Given the description of an element on the screen output the (x, y) to click on. 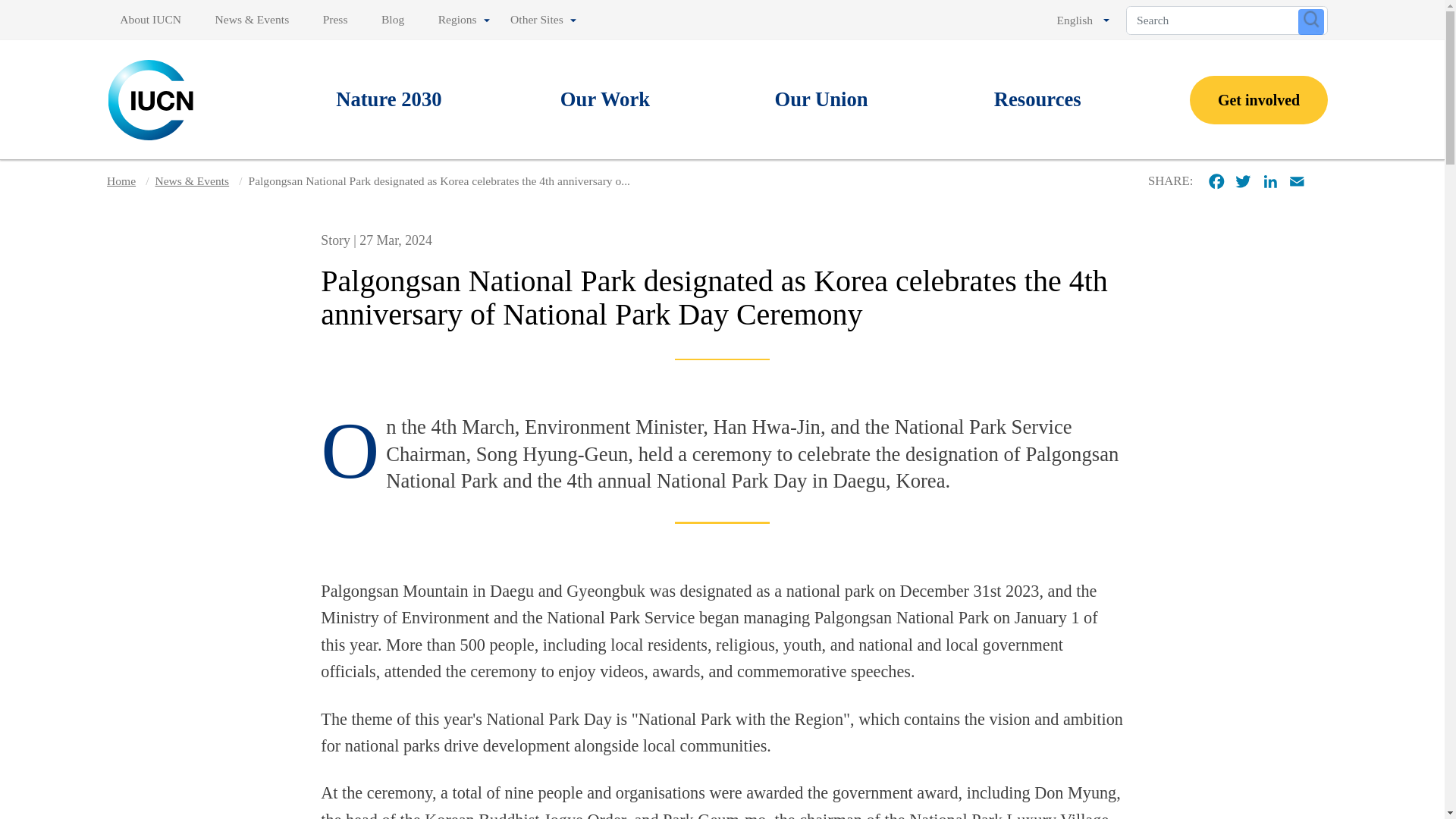
Nature 2030 (389, 99)
Blog (393, 20)
About IUCN (152, 20)
Press (334, 20)
Home (151, 99)
